Given the description of an element on the screen output the (x, y) to click on. 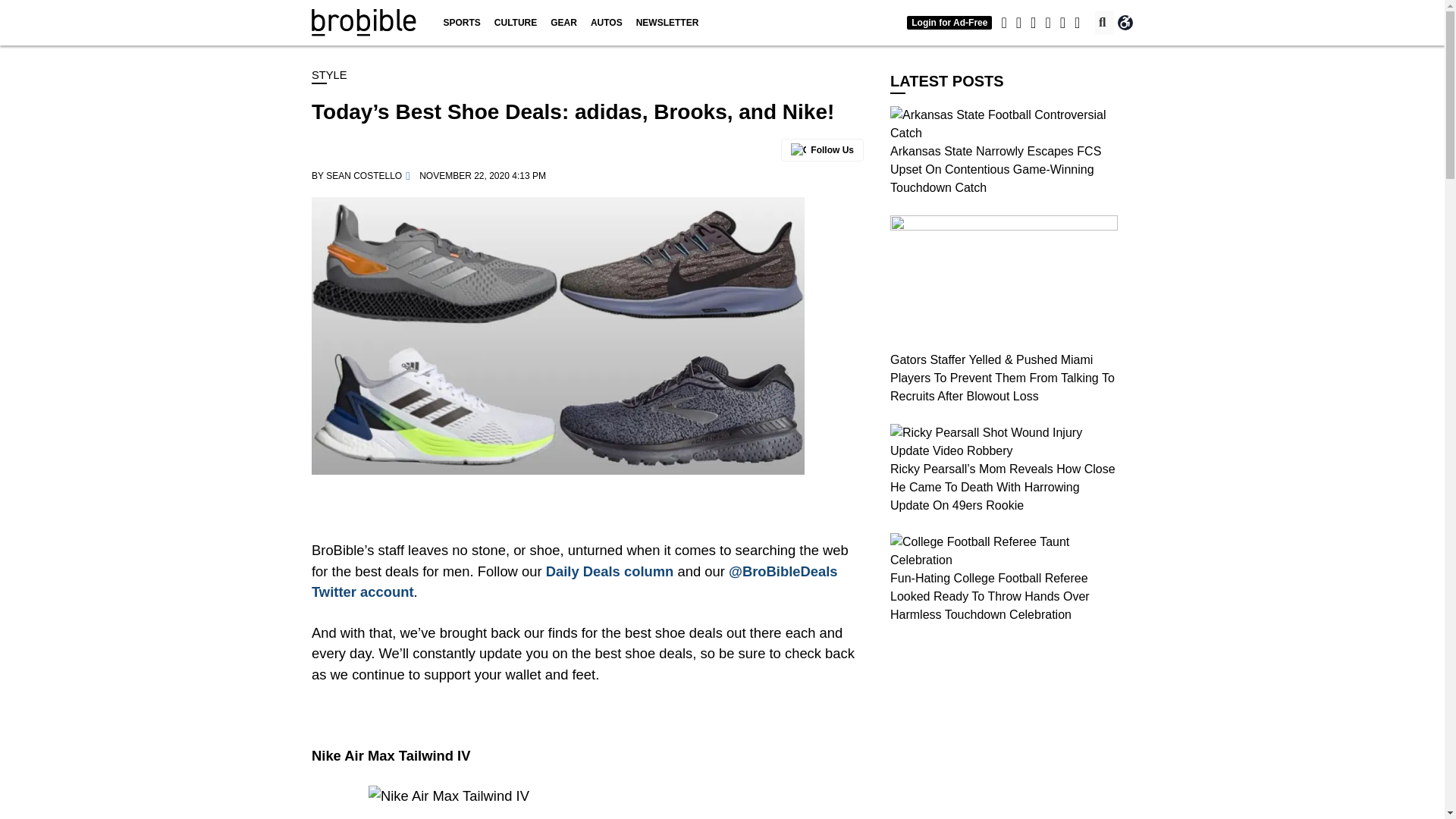
Posts by Sean Costello (363, 175)
SPORTS (460, 22)
CULTURE (515, 22)
Accessibility (1125, 22)
Login for Ad-Free (949, 22)
Follow us on Google News (821, 149)
